Given the description of an element on the screen output the (x, y) to click on. 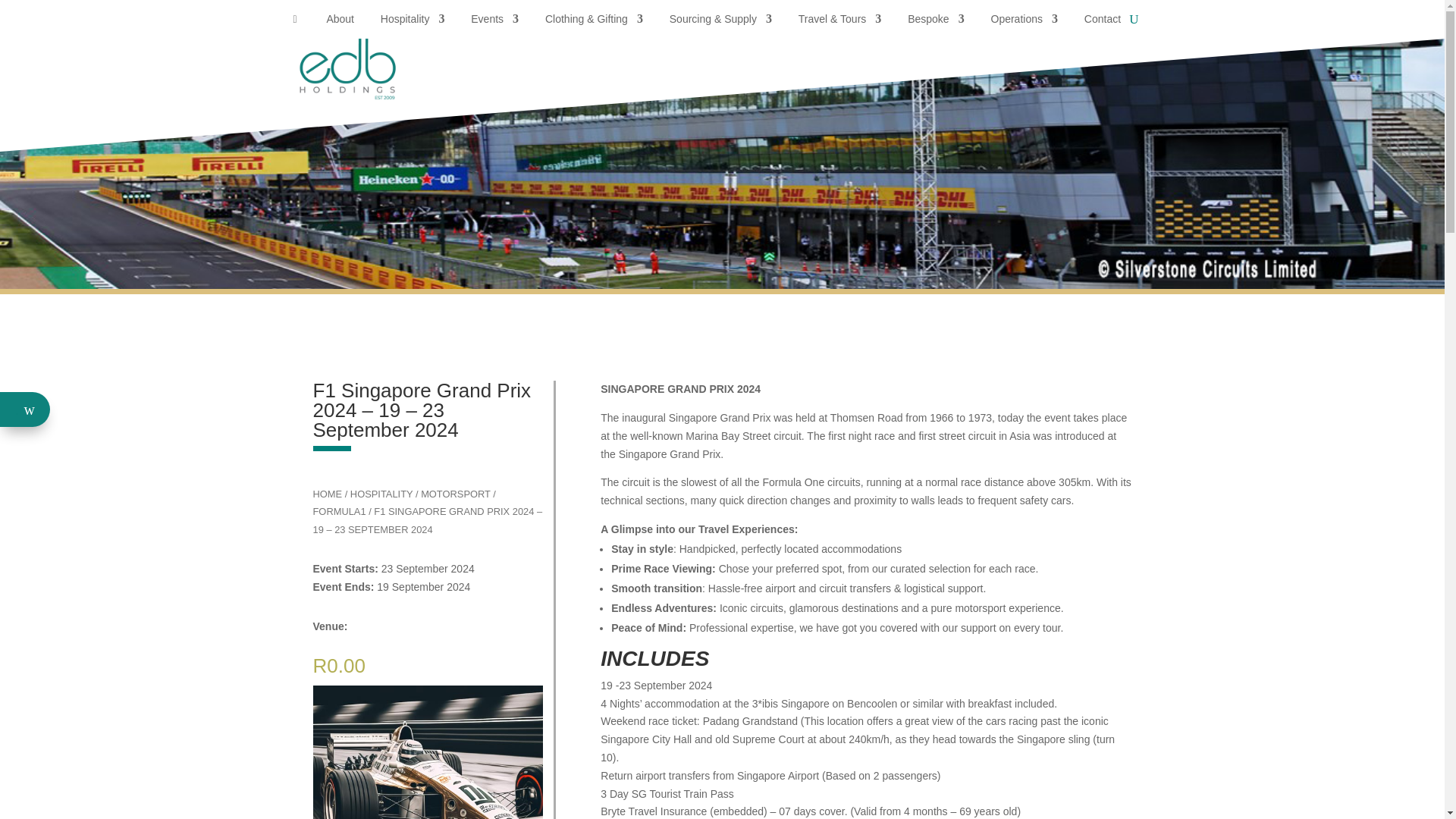
Hospitality (412, 22)
Events (494, 22)
About (339, 22)
EDB-Holdings-Logo-transparent (372, 68)
